Given the description of an element on the screen output the (x, y) to click on. 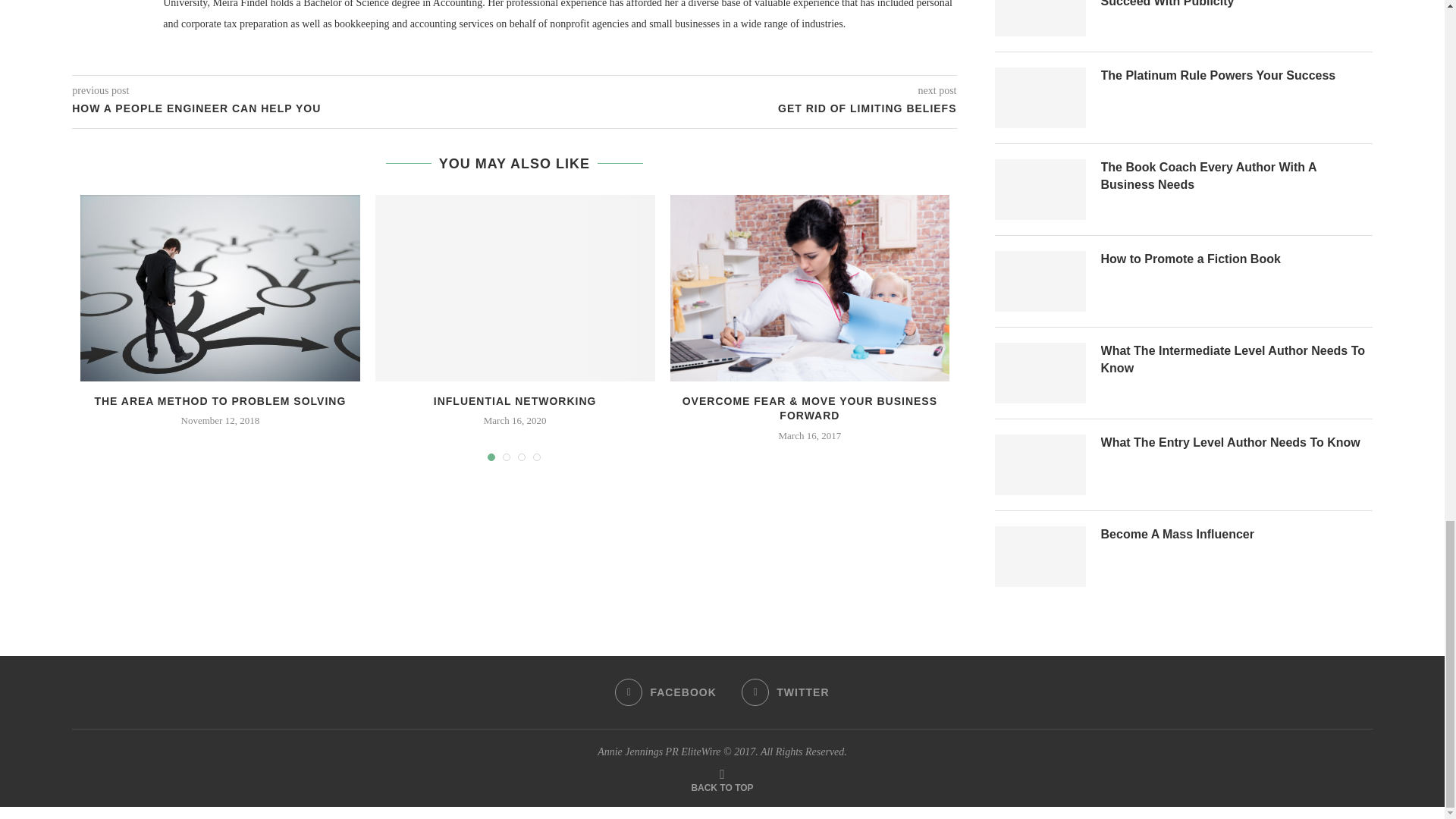
Influential Networking (515, 287)
The AREA Method To Problem Solving (219, 287)
